Given the description of an element on the screen output the (x, y) to click on. 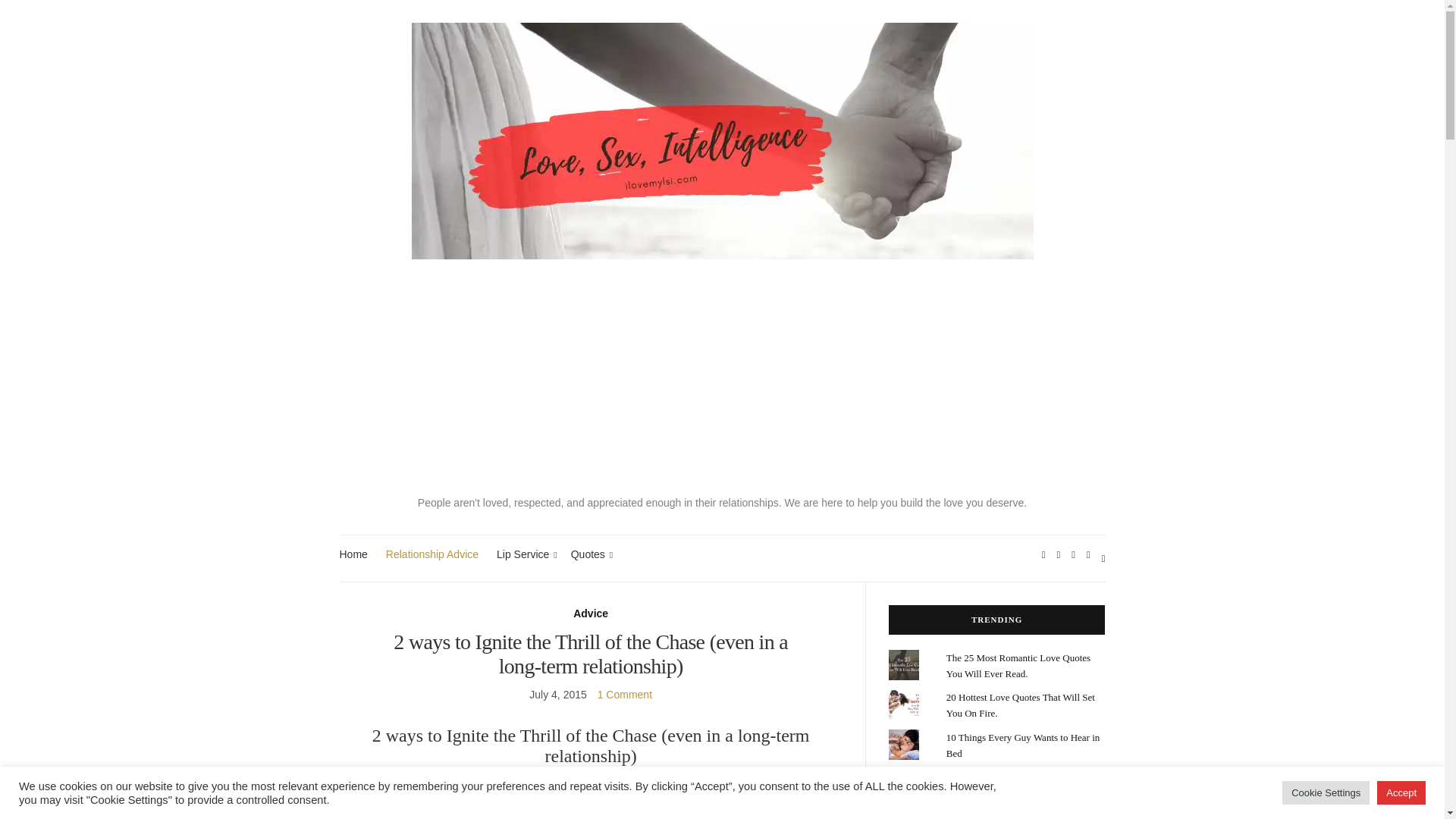
Quotes (589, 554)
Relationship Advice (432, 554)
The 25 Most Romantic Love Quotes You Will Ever Read. (1018, 665)
Lip Service (524, 554)
Home (353, 554)
10 Things Every Guy Wants to Hear in Bed (1022, 745)
10 Signs He Sees You As His Queen (1018, 776)
Home (353, 554)
20 Hottest Love Quotes That Will Set You On Fire. (1020, 705)
